Given the description of an element on the screen output the (x, y) to click on. 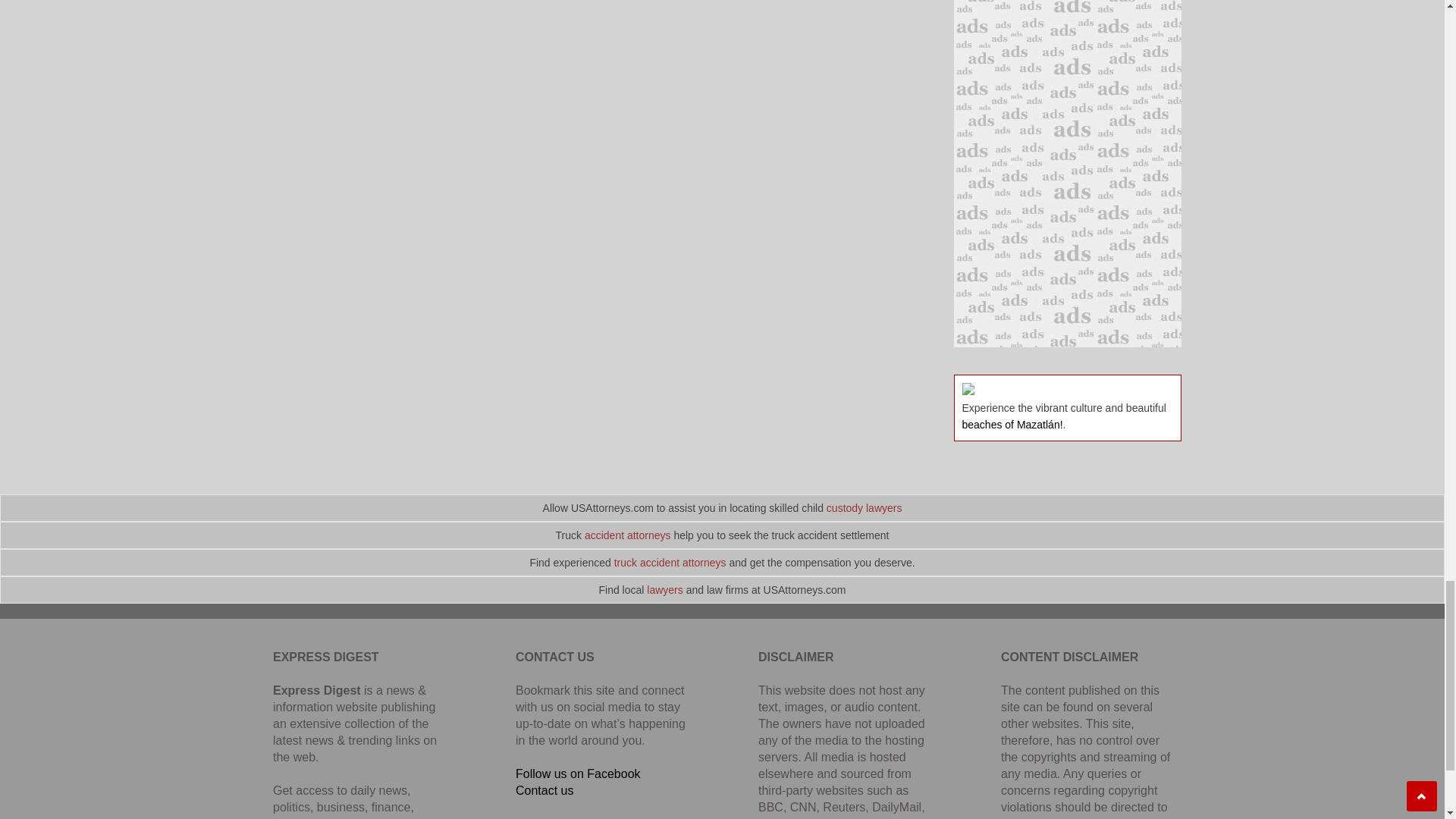
truck accident attorneys (670, 562)
lawyers (664, 589)
custody lawyers (864, 508)
accident attorneys (628, 535)
